Given the description of an element on the screen output the (x, y) to click on. 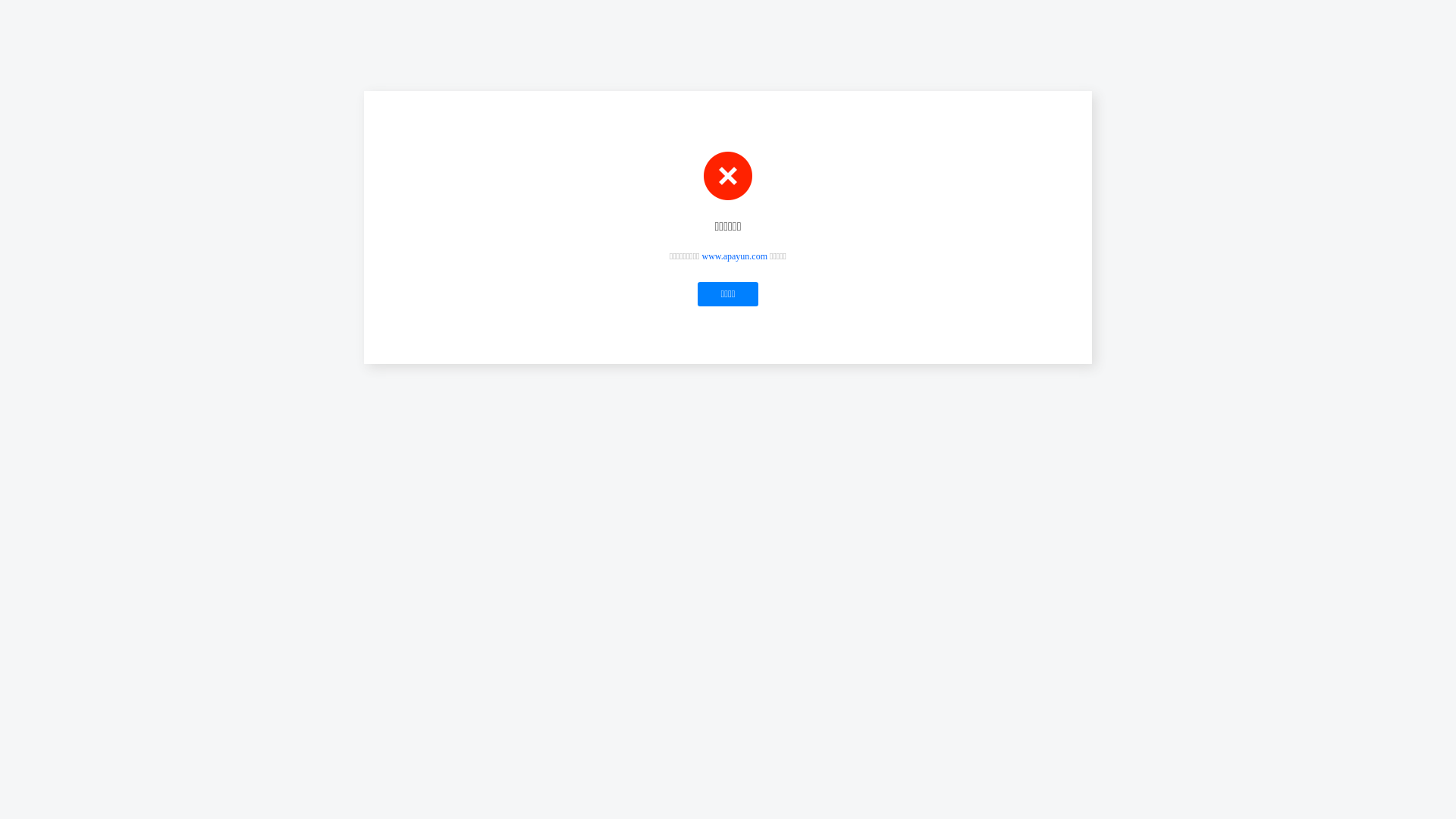
www.apayun.com Element type: text (735, 256)
